Given the description of an element on the screen output the (x, y) to click on. 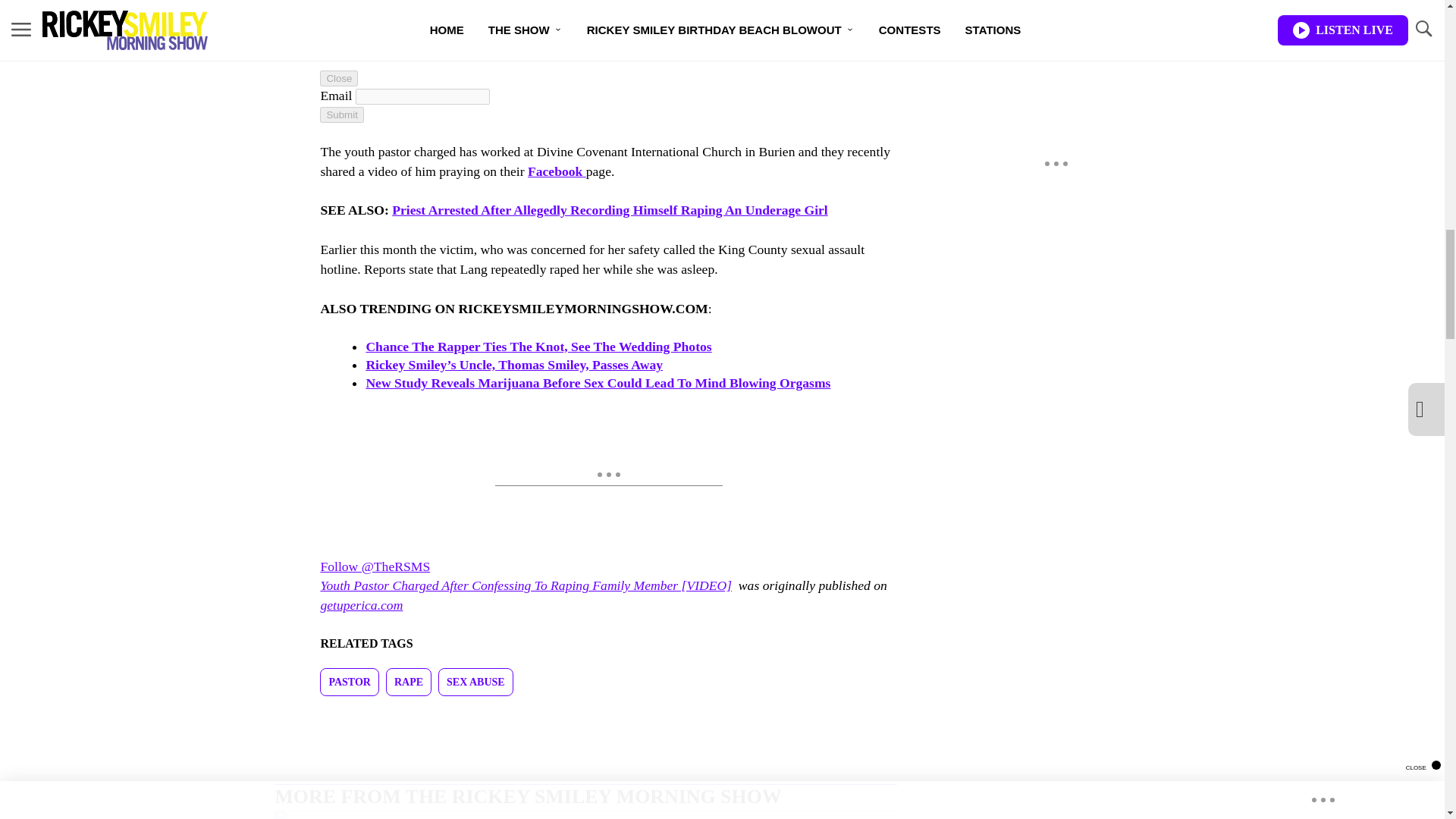
Chance The Rapper Ties The Knot, See The Wedding Photos (538, 346)
Facebook (556, 171)
getuperica.com (361, 604)
PASTOR (349, 682)
Close (339, 78)
Submit (341, 114)
